Given the description of an element on the screen output the (x, y) to click on. 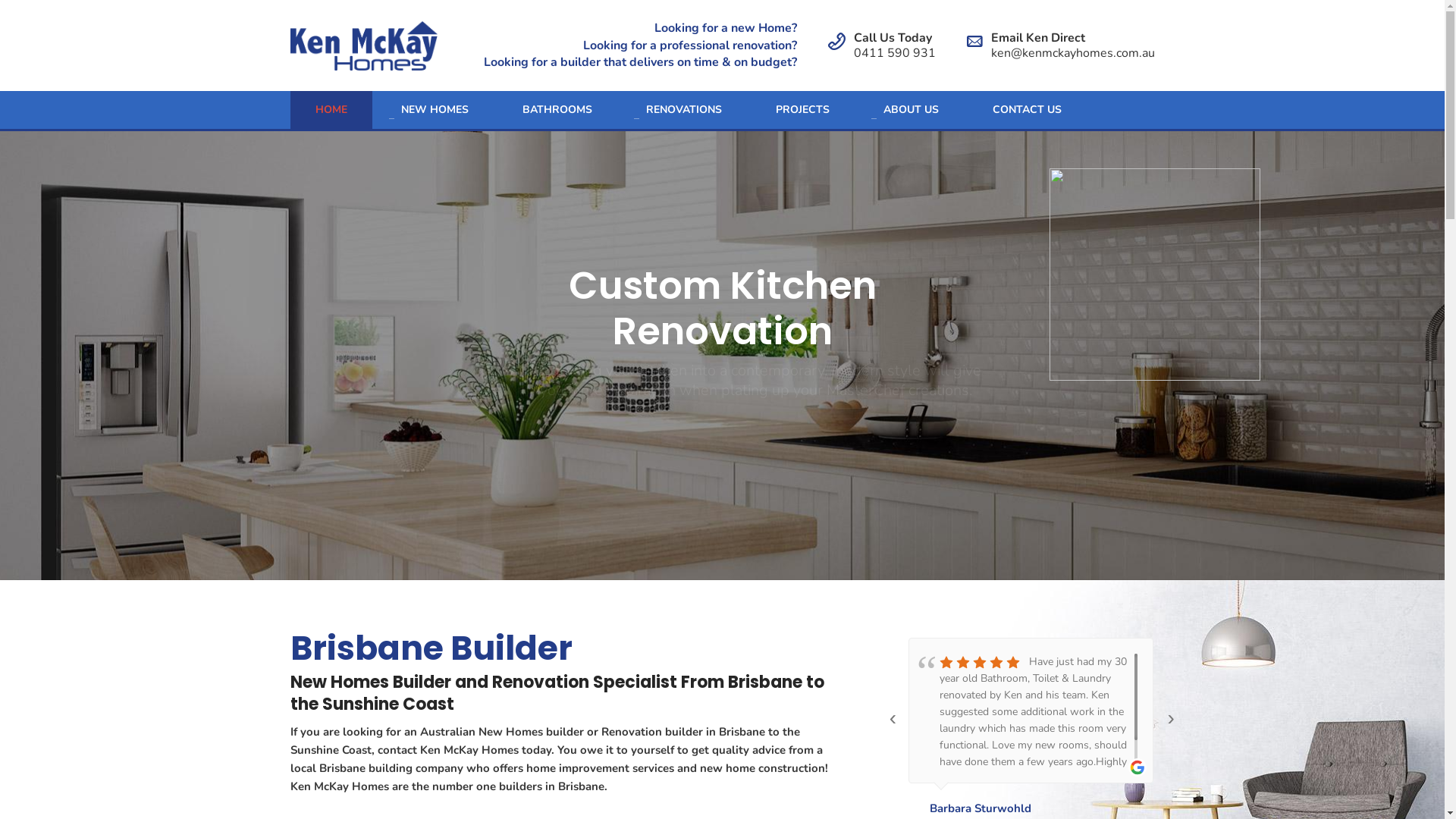
Katrina Mcgregor Element type: text (975, 808)
BATHROOMS Element type: text (557, 109)
RENOVATIONS Element type: text (683, 109)
CONTACT US Element type: text (1026, 109)
Email Ken Direct
ken@kenmckayhomes.com.au Element type: text (1072, 44)
Call Us Today
0411 590 931 Element type: text (894, 44)
NEW HOMES Element type: text (434, 109)
HOME Element type: text (330, 109)
PROJECTS Element type: text (802, 109)
ABOUT US Element type: text (910, 109)
New Homes Builder and Renovation Specialist Element type: hover (363, 45)
